Given the description of an element on the screen output the (x, y) to click on. 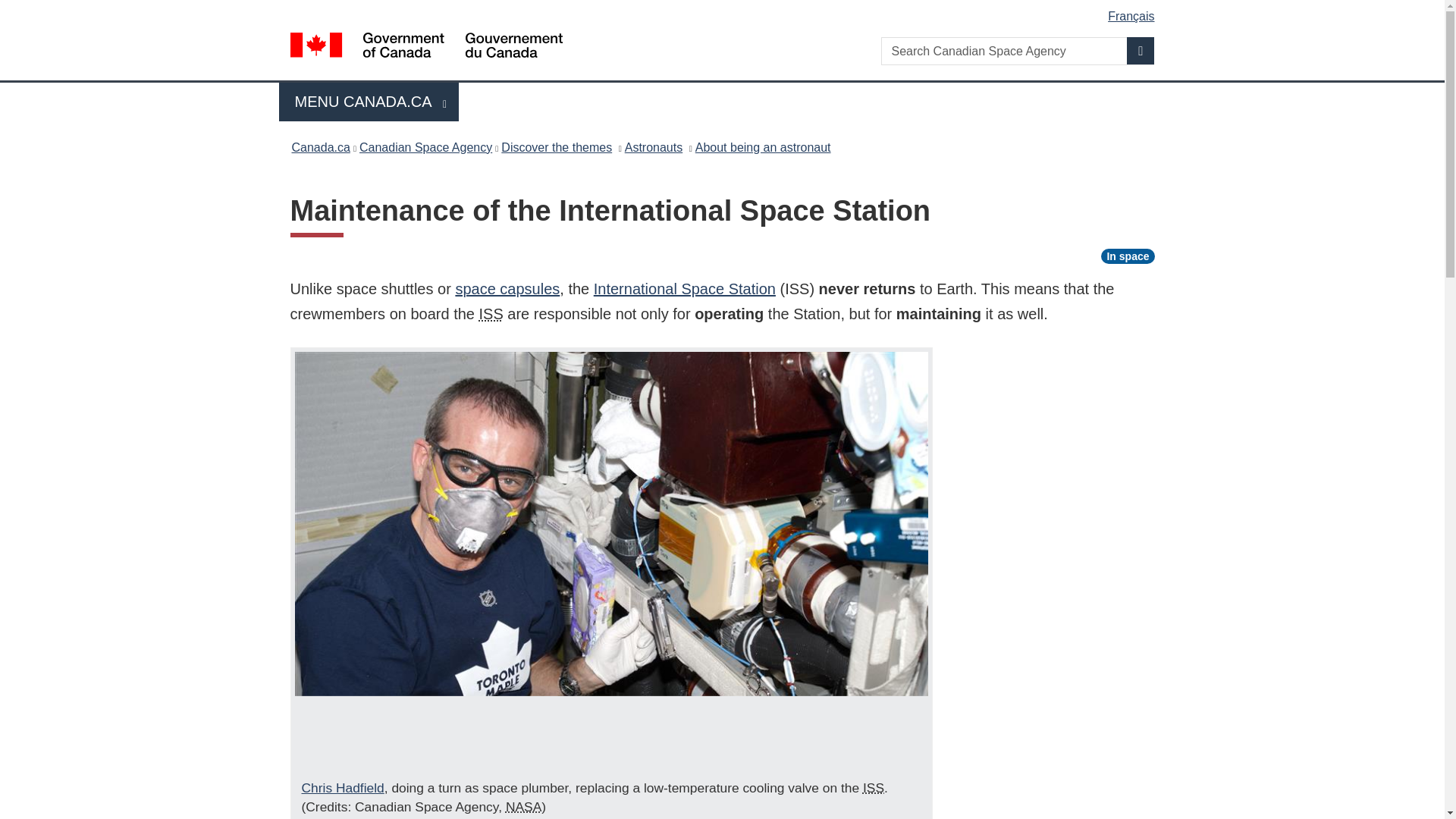
Search (1140, 50)
Canadian Space Agency (425, 147)
Chris Hadfield (342, 787)
Discover the themes (555, 147)
National Aeronautics and Space Administration (523, 806)
space capsules (506, 288)
Skip to main content (725, 11)
About being an astronaut (763, 147)
International Space Station (873, 787)
